Given the description of an element on the screen output the (x, y) to click on. 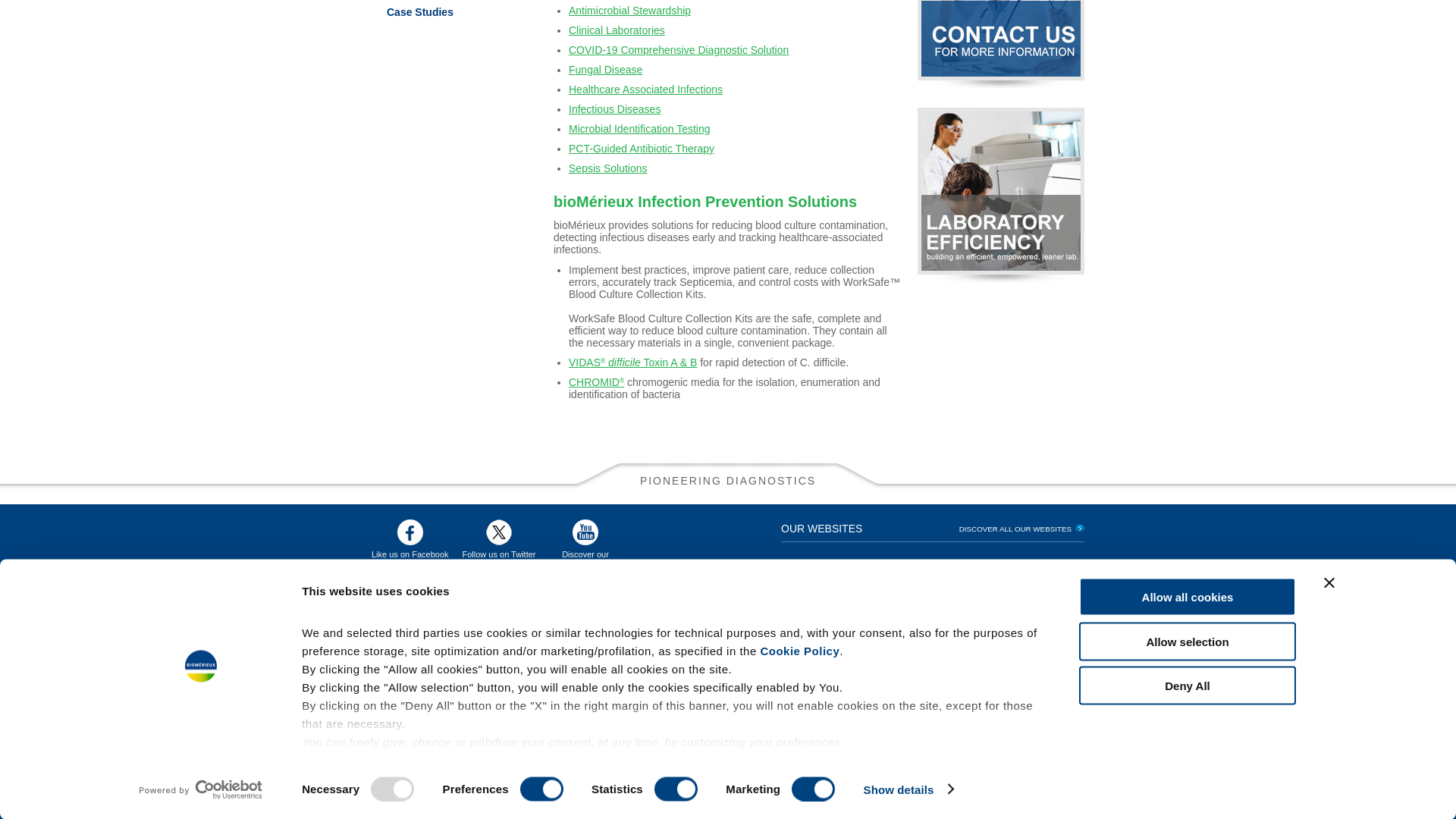
Show details (908, 348)
Cookie Policy (800, 210)
Like us on Facebook (409, 538)
